Given the description of an element on the screen output the (x, y) to click on. 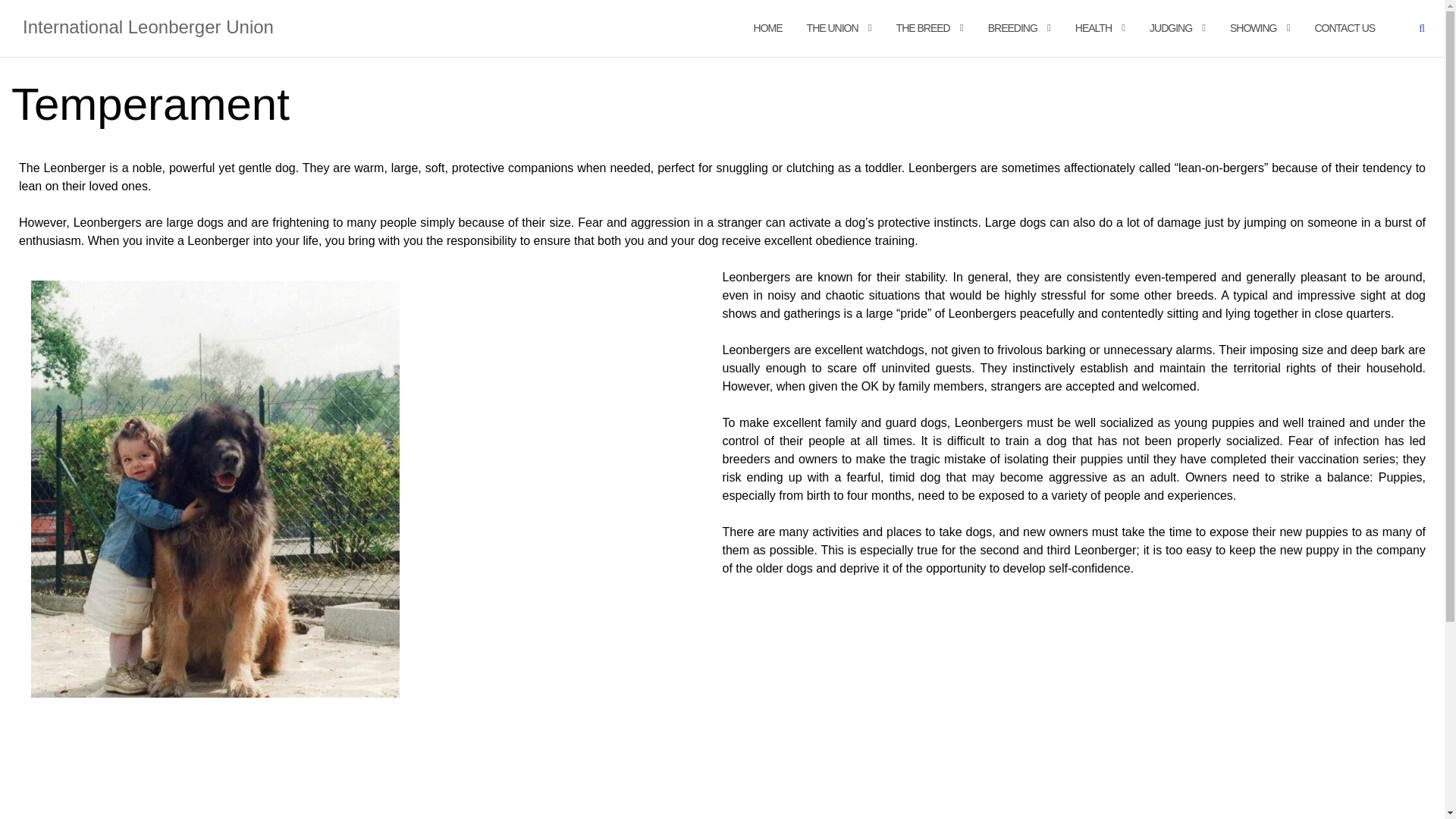
JUDGING (1171, 28)
BREEDING (1012, 28)
THE UNION (832, 28)
SHOWING (1253, 28)
The Union (832, 28)
THE BREED (923, 28)
The Breed (923, 28)
International Leonberger Union (148, 28)
CONTACT US (1344, 28)
